Given the description of an element on the screen output the (x, y) to click on. 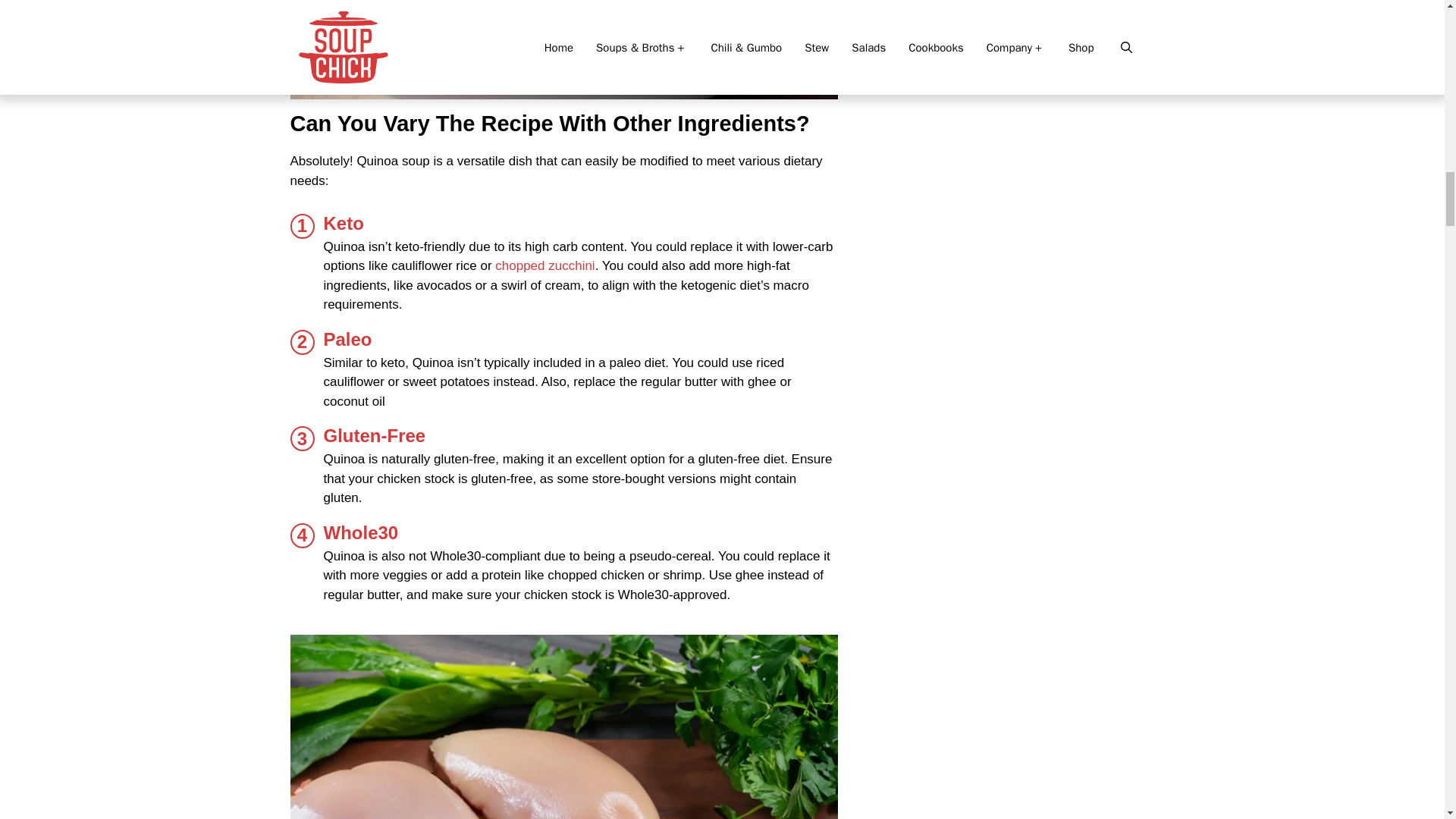
chopped zucchini (544, 265)
